Given the description of an element on the screen output the (x, y) to click on. 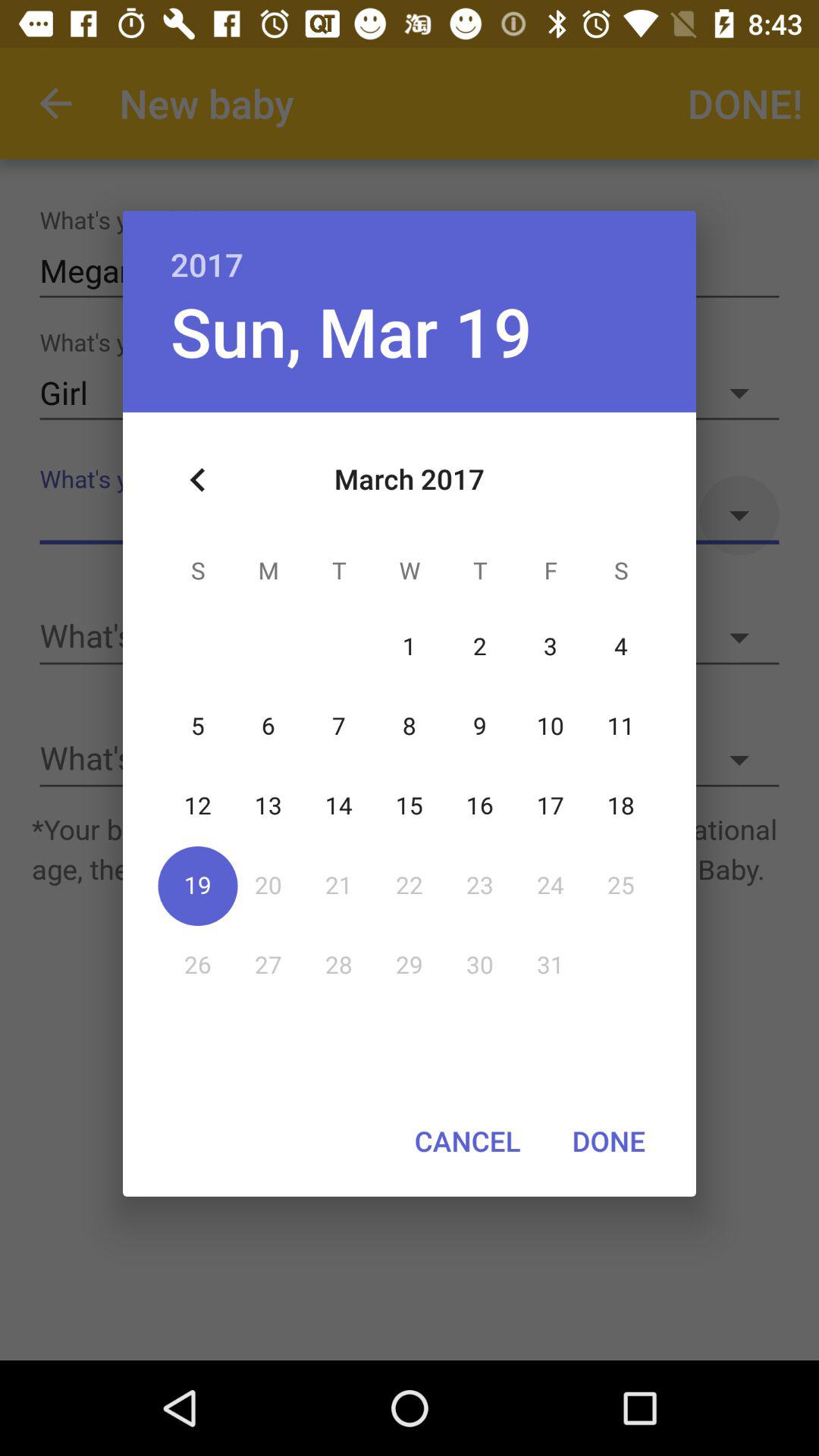
open icon below the sun, mar 19 icon (197, 479)
